Given the description of an element on the screen output the (x, y) to click on. 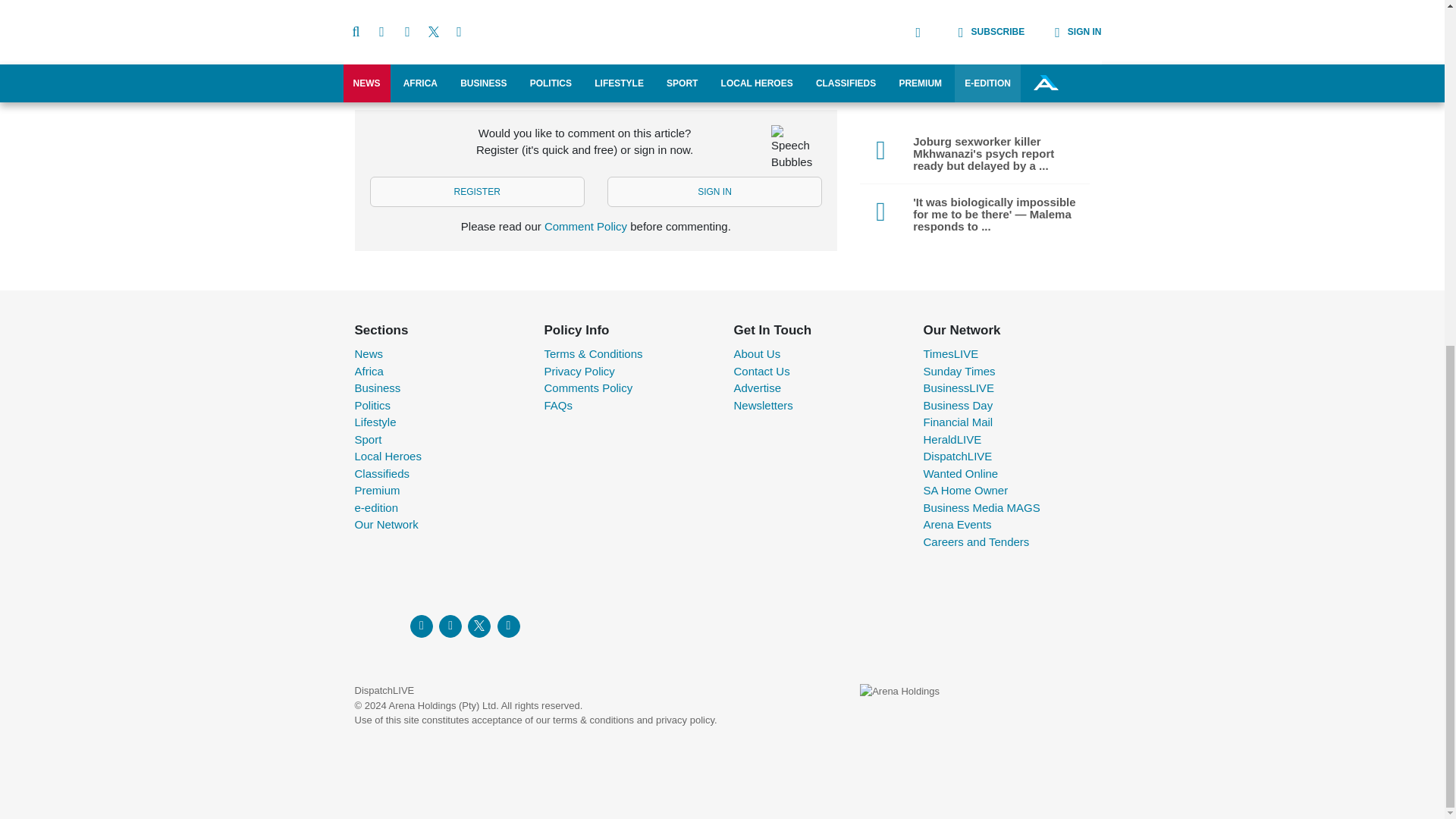
Pressure on Manchester City in derby against United (722, 83)
